Given the description of an element on the screen output the (x, y) to click on. 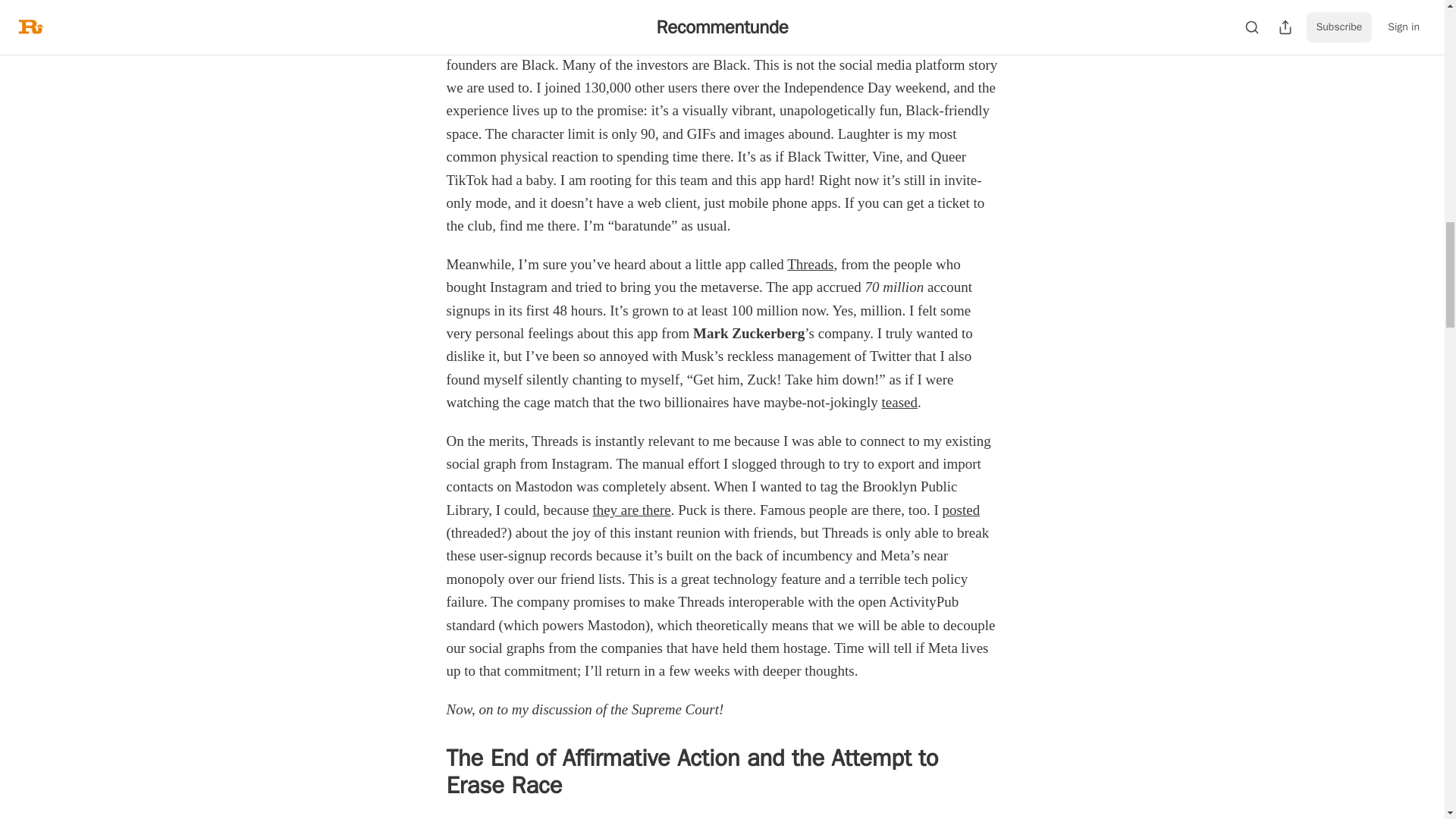
Threads (809, 263)
posted (960, 509)
teased (899, 401)
they are there (630, 509)
